Given the description of an element on the screen output the (x, y) to click on. 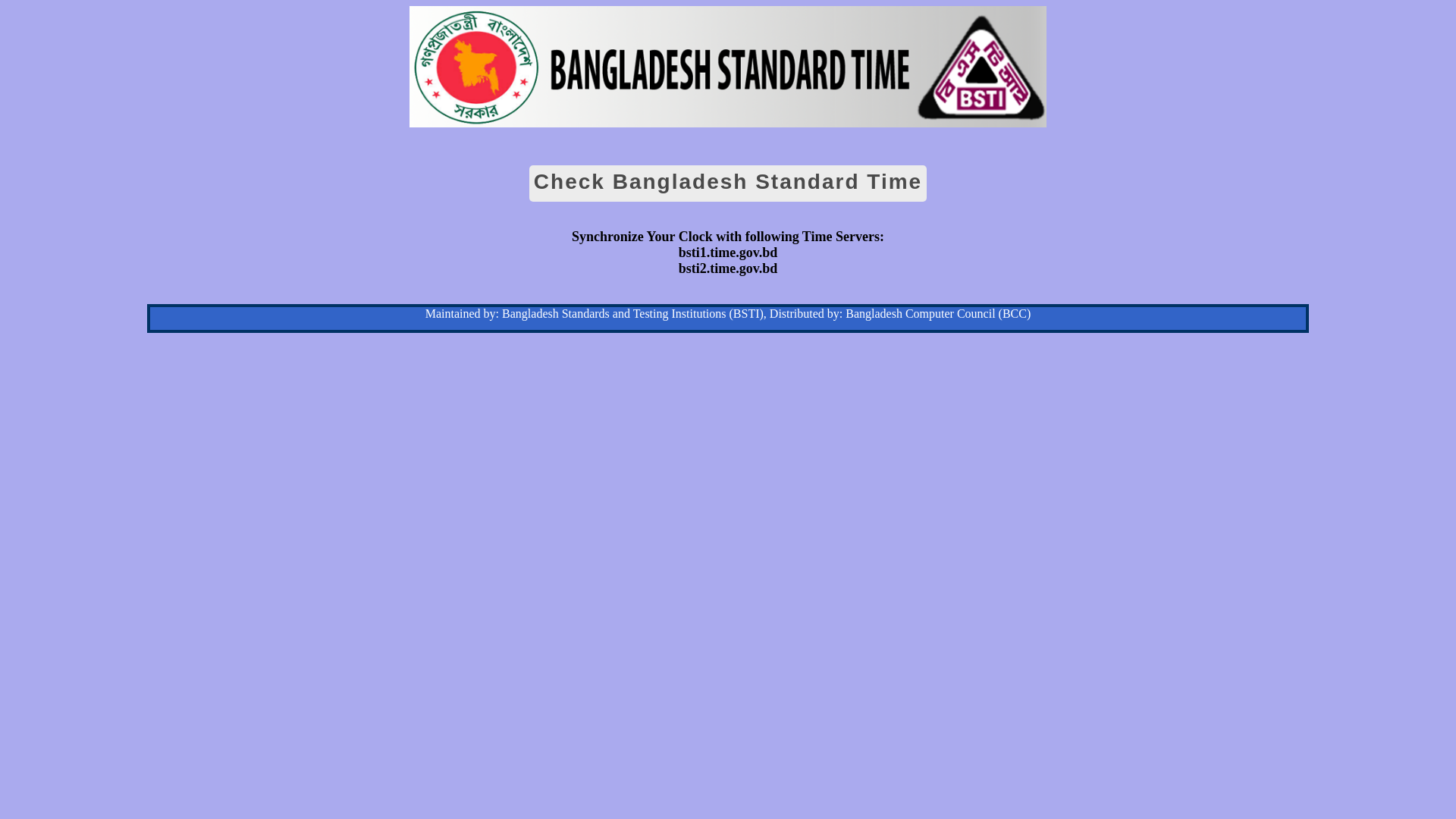
Check Bangladesh Standard Time Element type: text (727, 183)
